Given the description of an element on the screen output the (x, y) to click on. 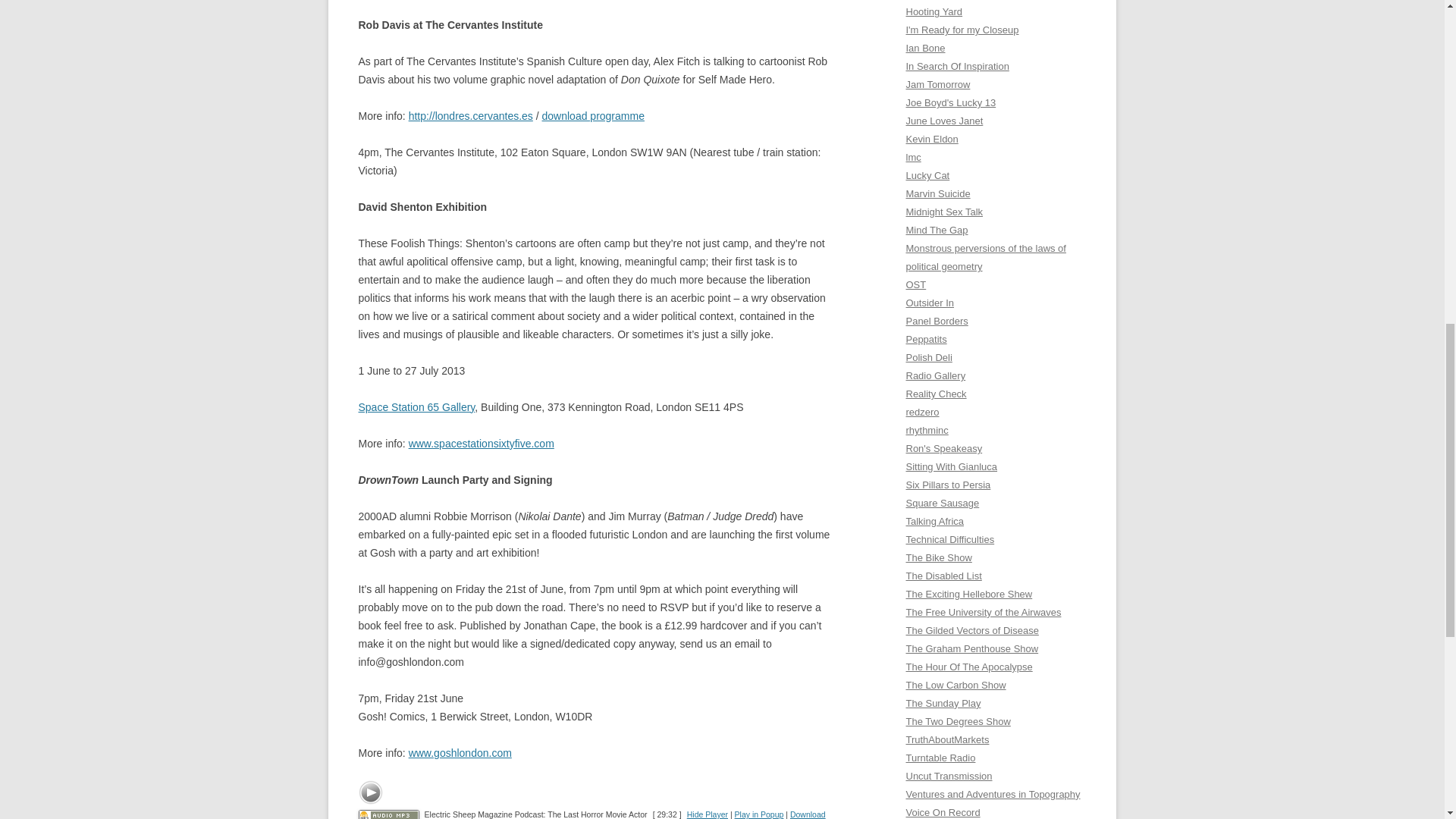
Hide Player (707, 814)
Play in Popup (759, 814)
Hooting Yard (933, 11)
Space Station 65 Gallery (416, 407)
www.spacestationsixtyfive.com (481, 443)
www.goshlondon.com (460, 752)
Download (807, 814)
download programme (593, 115)
